Given the description of an element on the screen output the (x, y) to click on. 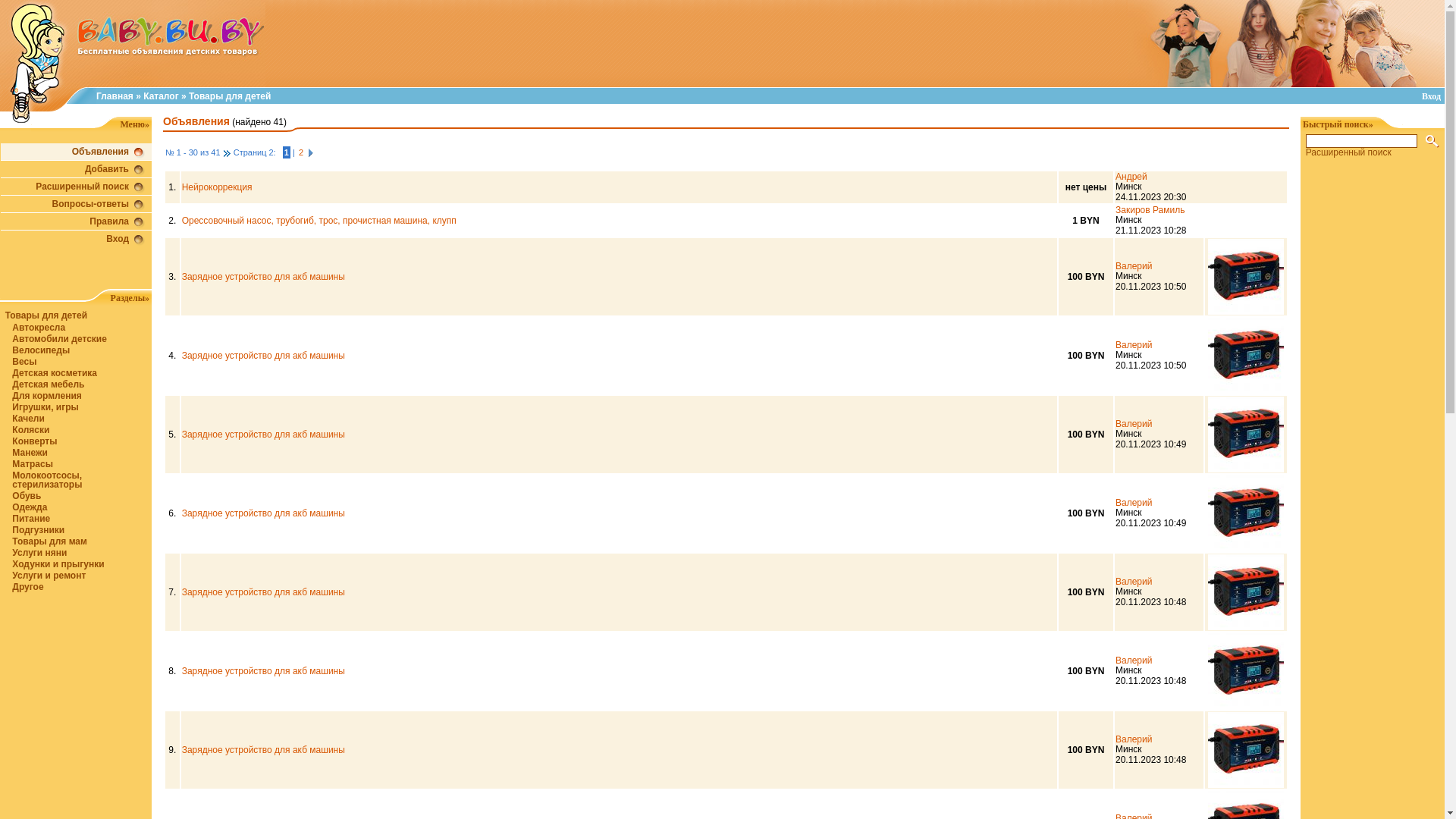
  Element type: text (226, 152)
2 Element type: text (300, 152)
  Element type: text (310, 152)
